Given the description of an element on the screen output the (x, y) to click on. 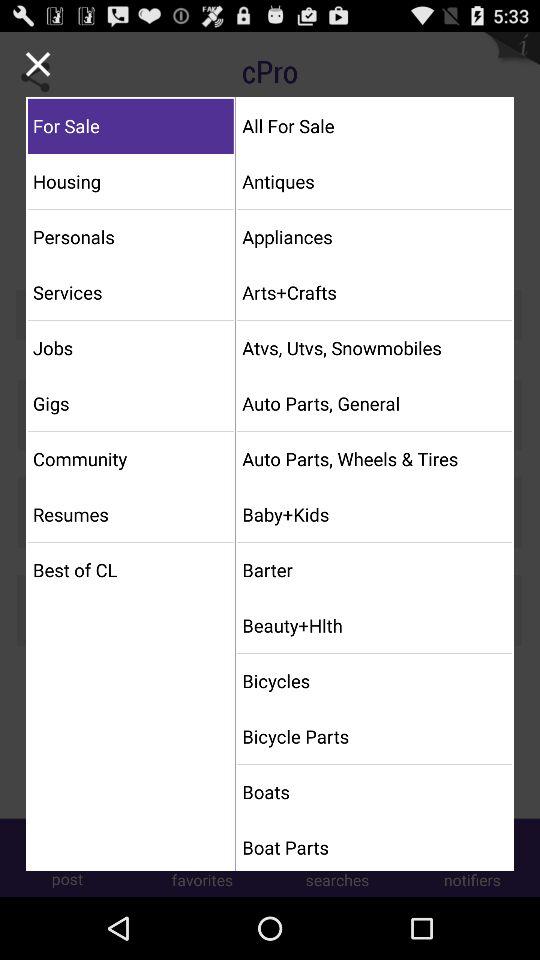
close field (37, 63)
